Given the description of an element on the screen output the (x, y) to click on. 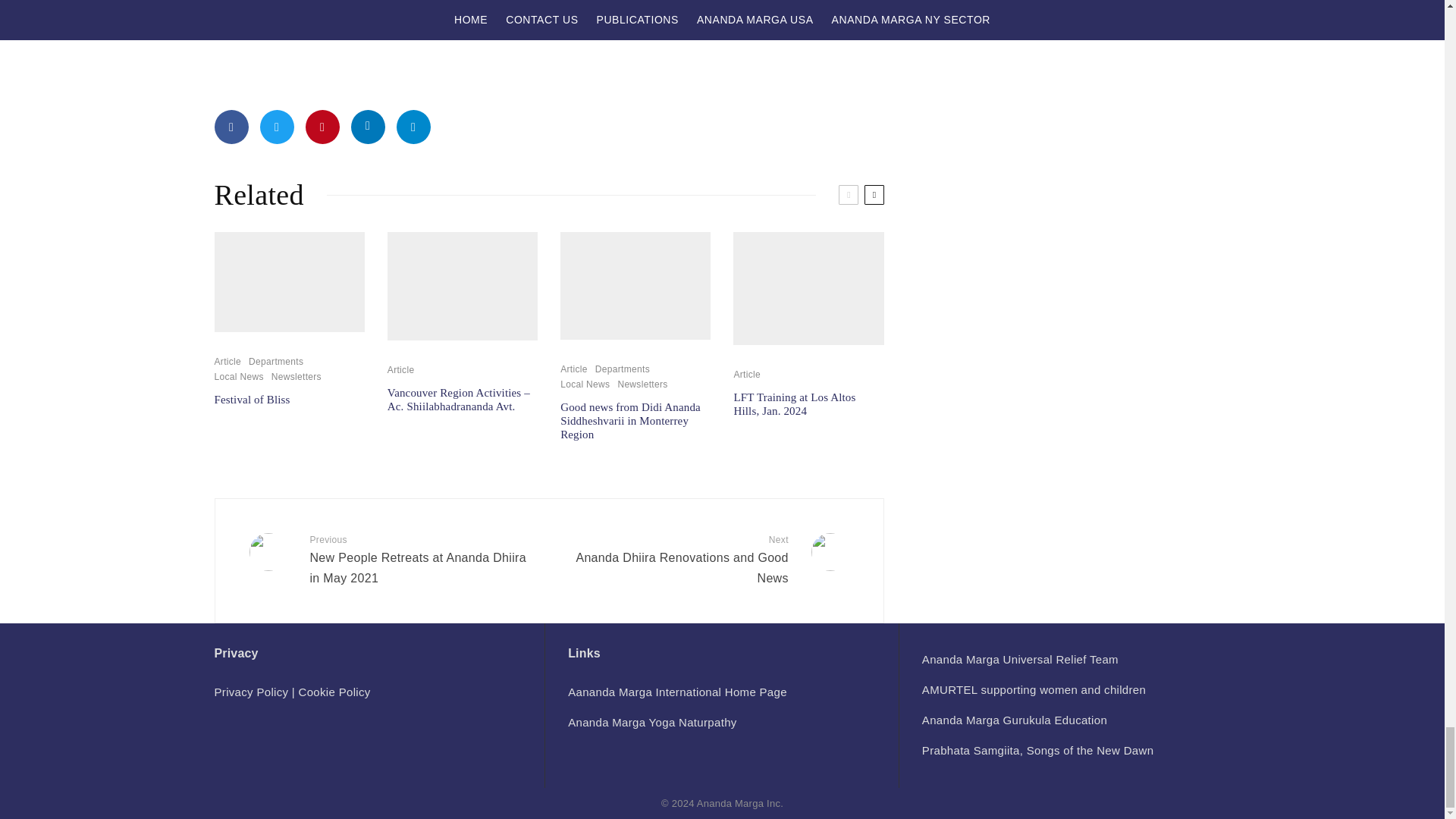
Article (400, 370)
Departments (275, 362)
Local News (238, 377)
Festival of Bliss (251, 399)
Article (227, 362)
Newsletters (295, 377)
AMURT (1019, 658)
AMURT (1033, 689)
